Given the description of an element on the screen output the (x, y) to click on. 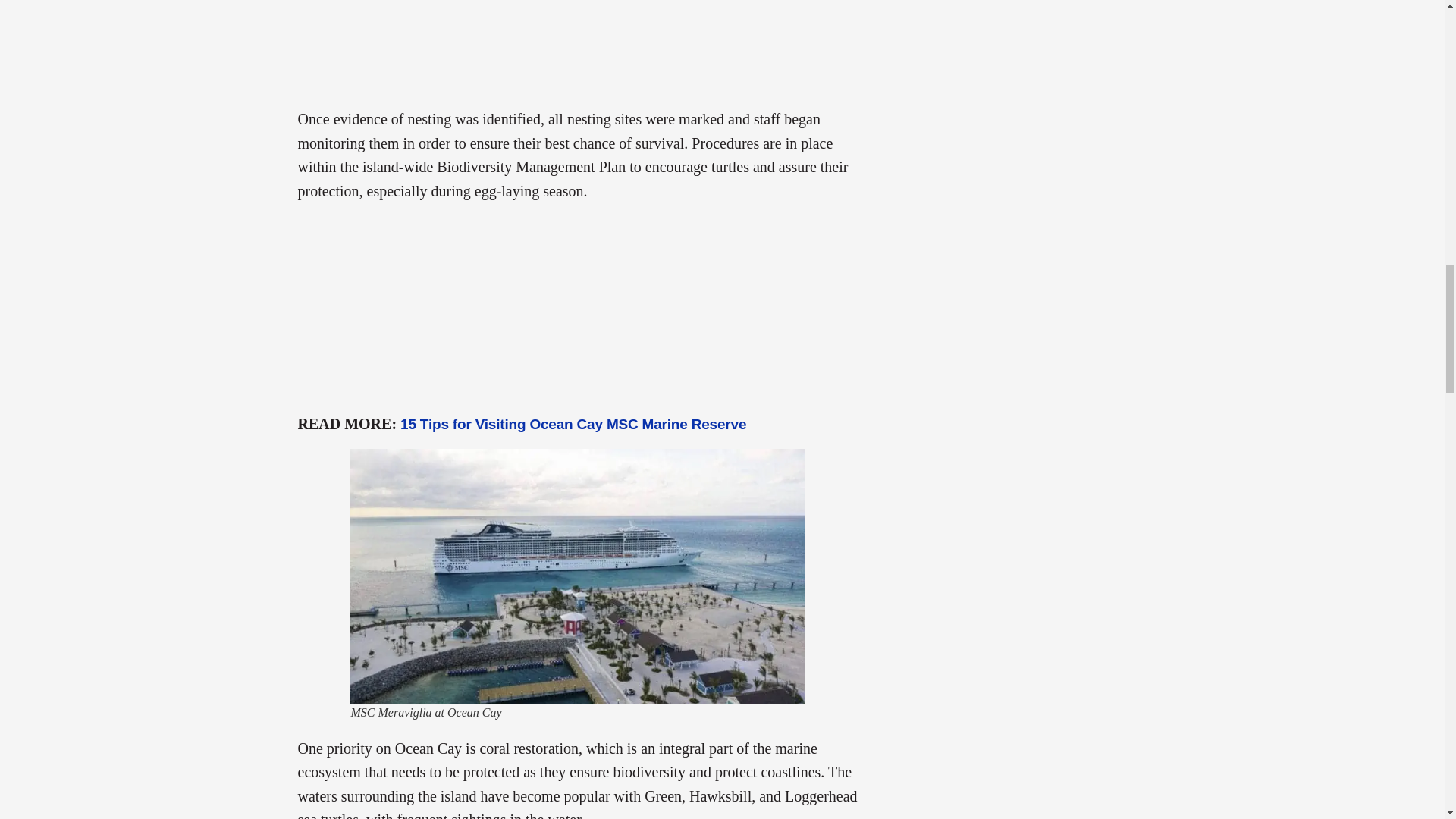
15 Tips for Visiting Ocean Cay MSC Marine Reserve (572, 424)
